Given the description of an element on the screen output the (x, y) to click on. 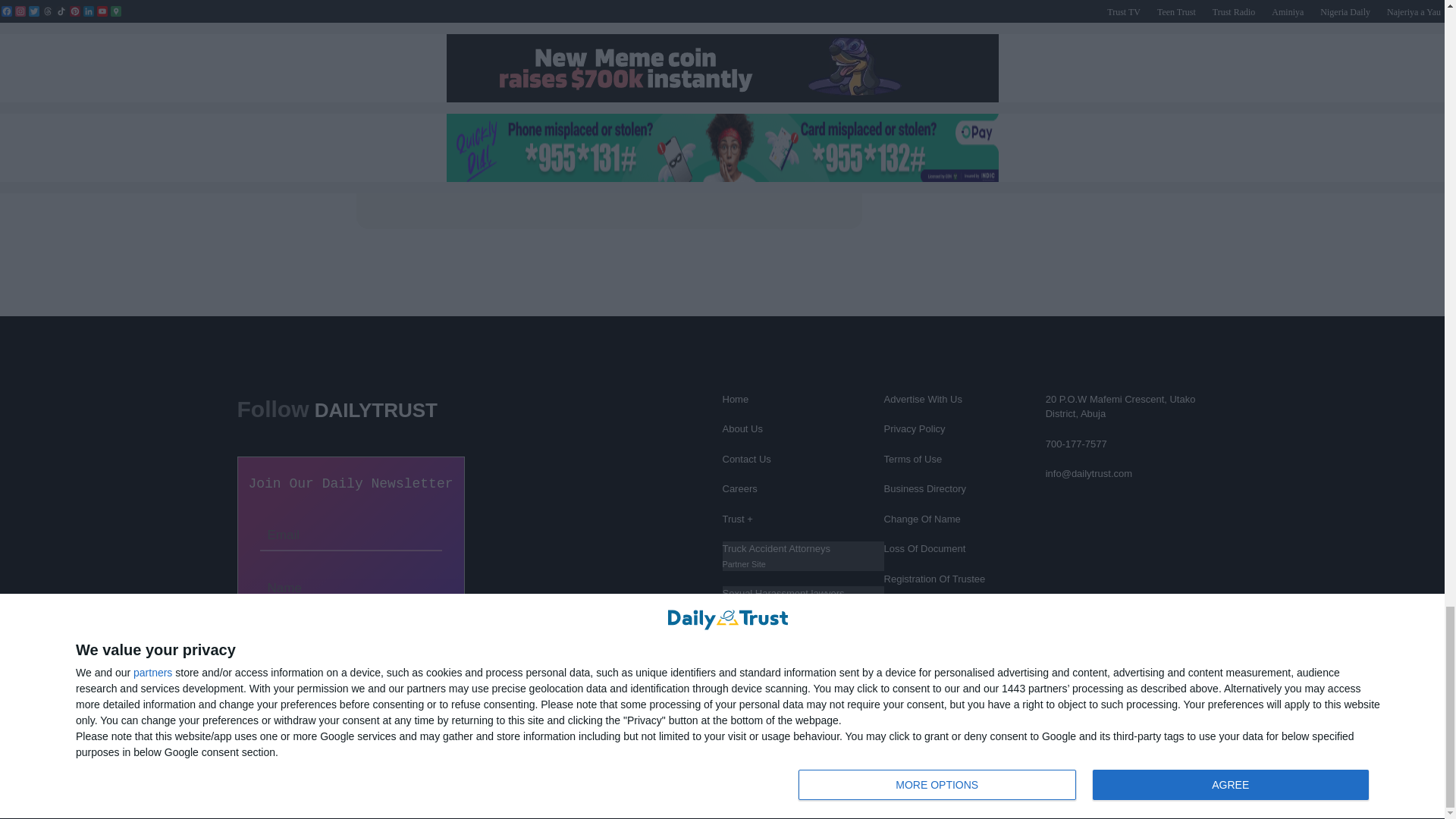
Join Now (350, 634)
